Given the description of an element on the screen output the (x, y) to click on. 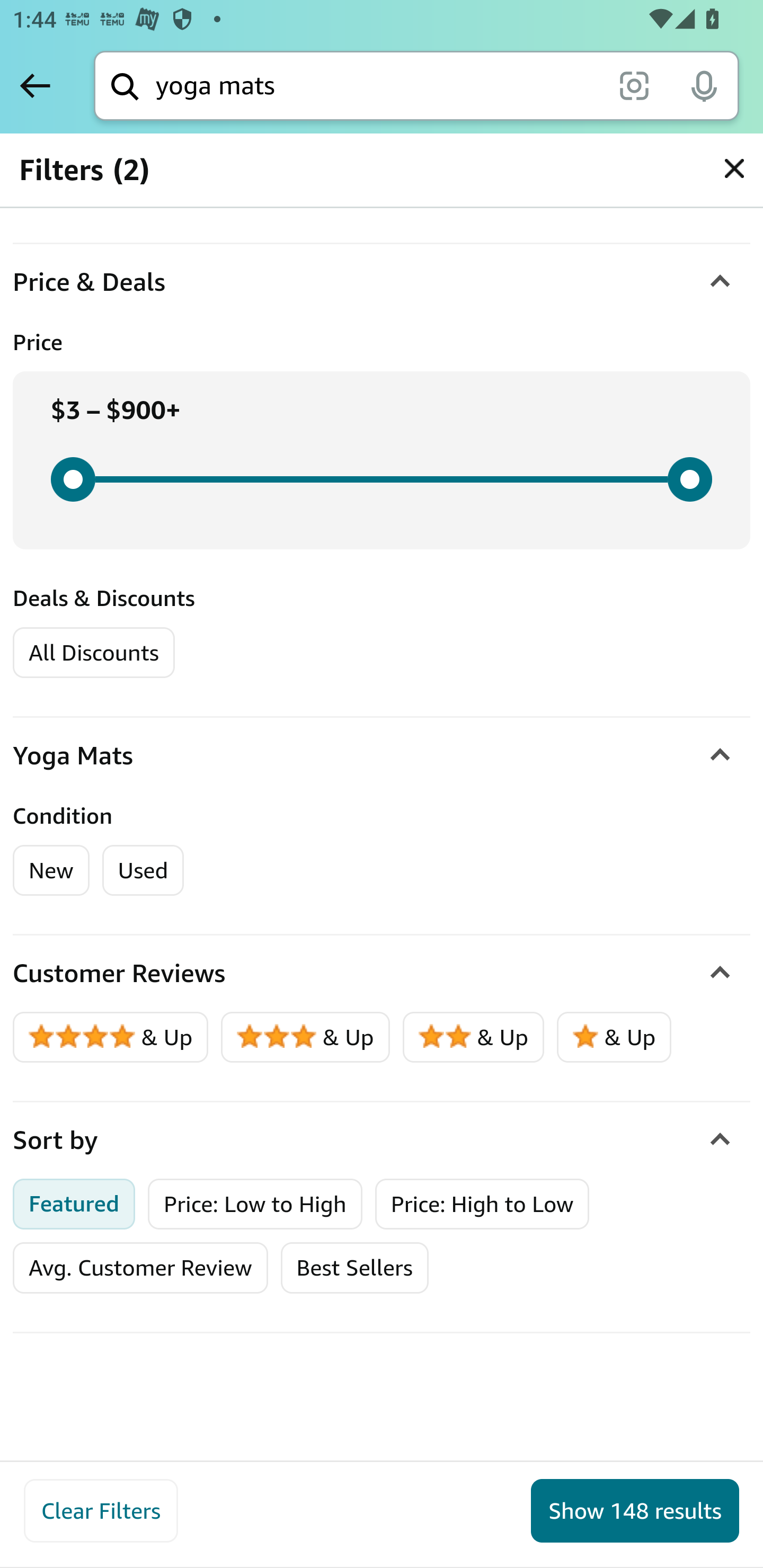
Back (35, 85)
scan it (633, 85)
Silver Silver Silver Silver (79, 178)
Price & Deals (381, 282)
All Discounts (93, 651)
Yoga Mats (381, 755)
New (51, 869)
Used (142, 869)
Customer Reviews (381, 973)
4 Stars & Up (110, 1037)
3 Stars & Up (305, 1037)
2 Stars & Up (473, 1037)
1 Star & Up (614, 1037)
Sort by (381, 1139)
Price: Low to High (255, 1203)
Price: High to Low (481, 1203)
Avg. Customer Review (140, 1267)
Best Sellers (354, 1267)
Clear Filters (100, 1510)
Show 148 results (635, 1510)
